Given the description of an element on the screen output the (x, y) to click on. 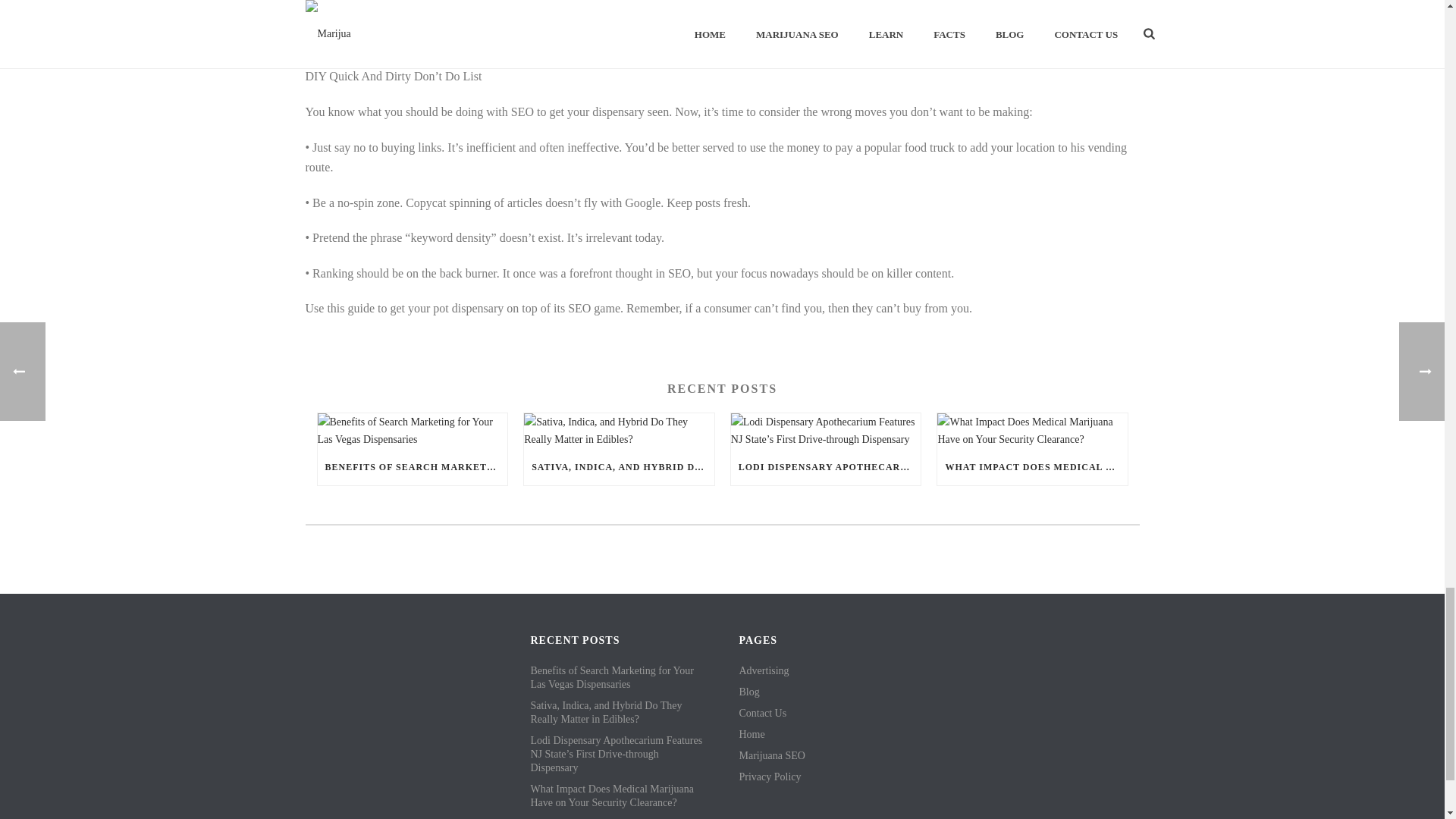
Blog (748, 692)
Benefits of Search Marketing for Your Las Vegas Dispensaries (411, 430)
BENEFITS OF SEARCH MARKETING FOR YOUR LAS VEGAS DISPENSARIES (411, 466)
Advertising (763, 671)
Benefits of Search Marketing for Your Las Vegas Dispensaries (618, 677)
Home (751, 735)
Sativa, Indica, and Hybrid Do They Really Matter in Edibles? (619, 430)
SATIVA, INDICA, AND HYBRID DO THEY REALLY MATTER IN EDIBLES? (619, 466)
